Given the description of an element on the screen output the (x, y) to click on. 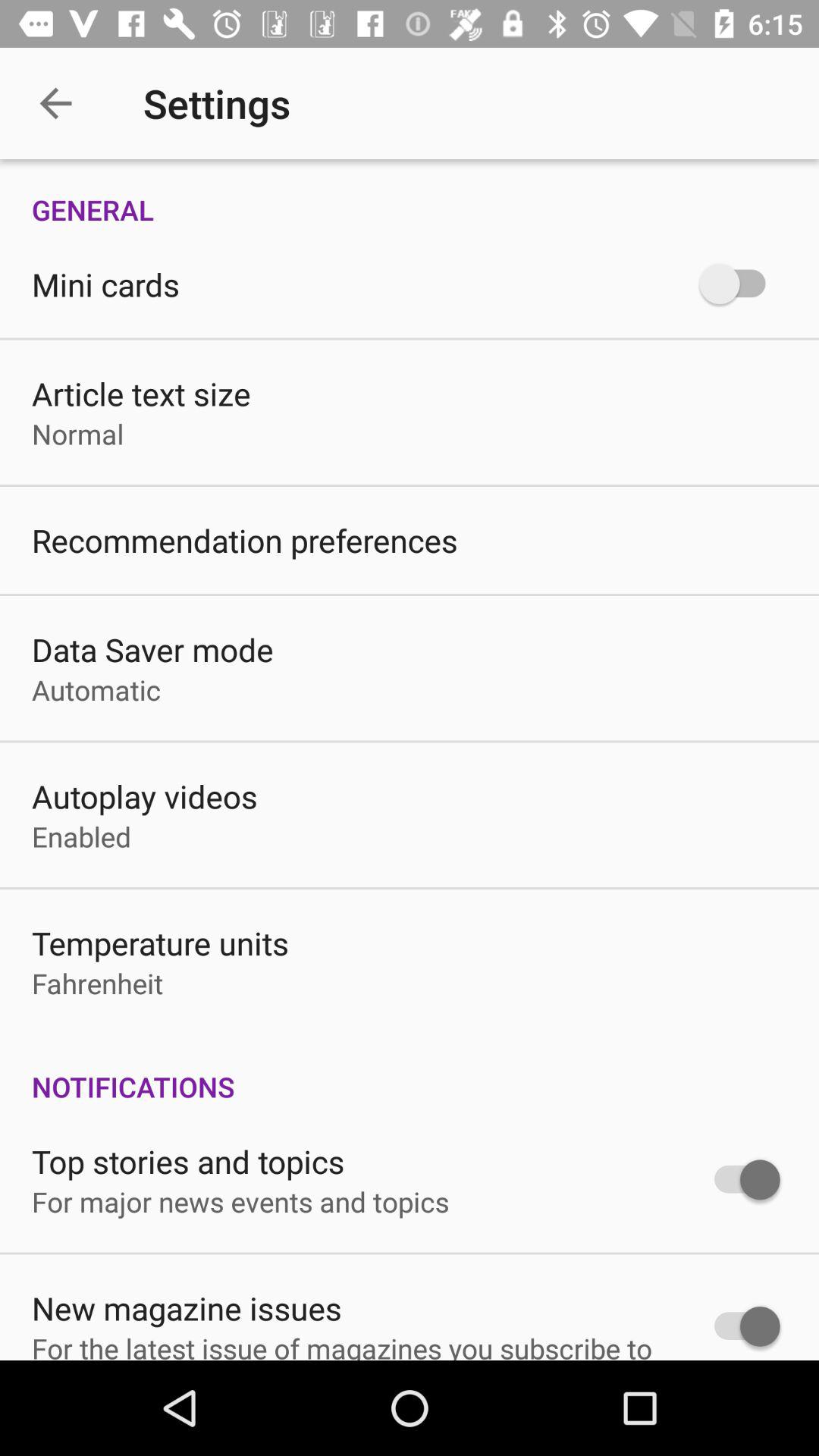
open the icon below for major news (186, 1307)
